Given the description of an element on the screen output the (x, y) to click on. 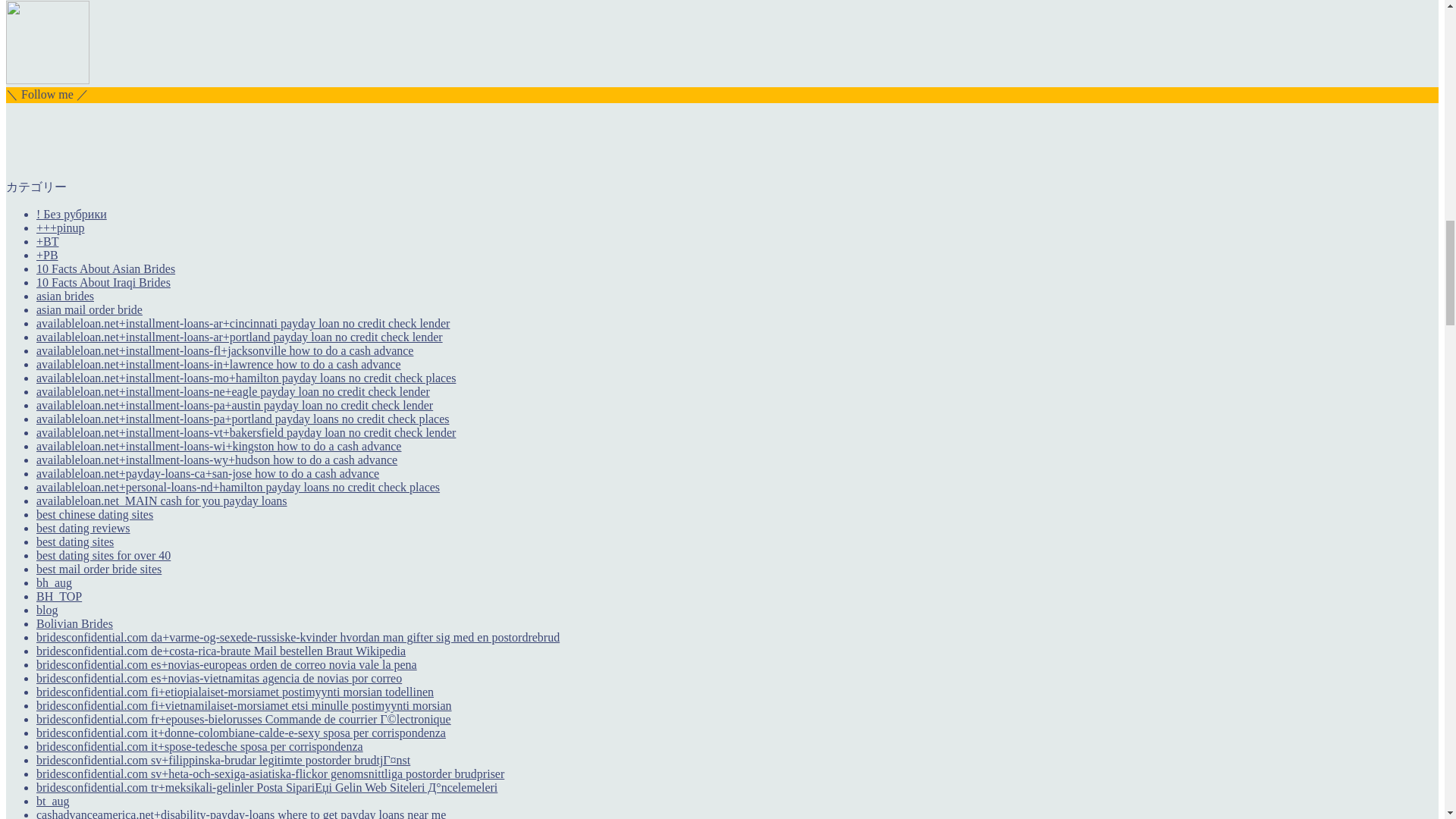
asian mail order bride (89, 309)
10 Facts About Asian Brides (105, 268)
NO IMAGE (41, 0)
10 Facts About Iraqi Brides (103, 282)
asian brides (65, 295)
